Given the description of an element on the screen output the (x, y) to click on. 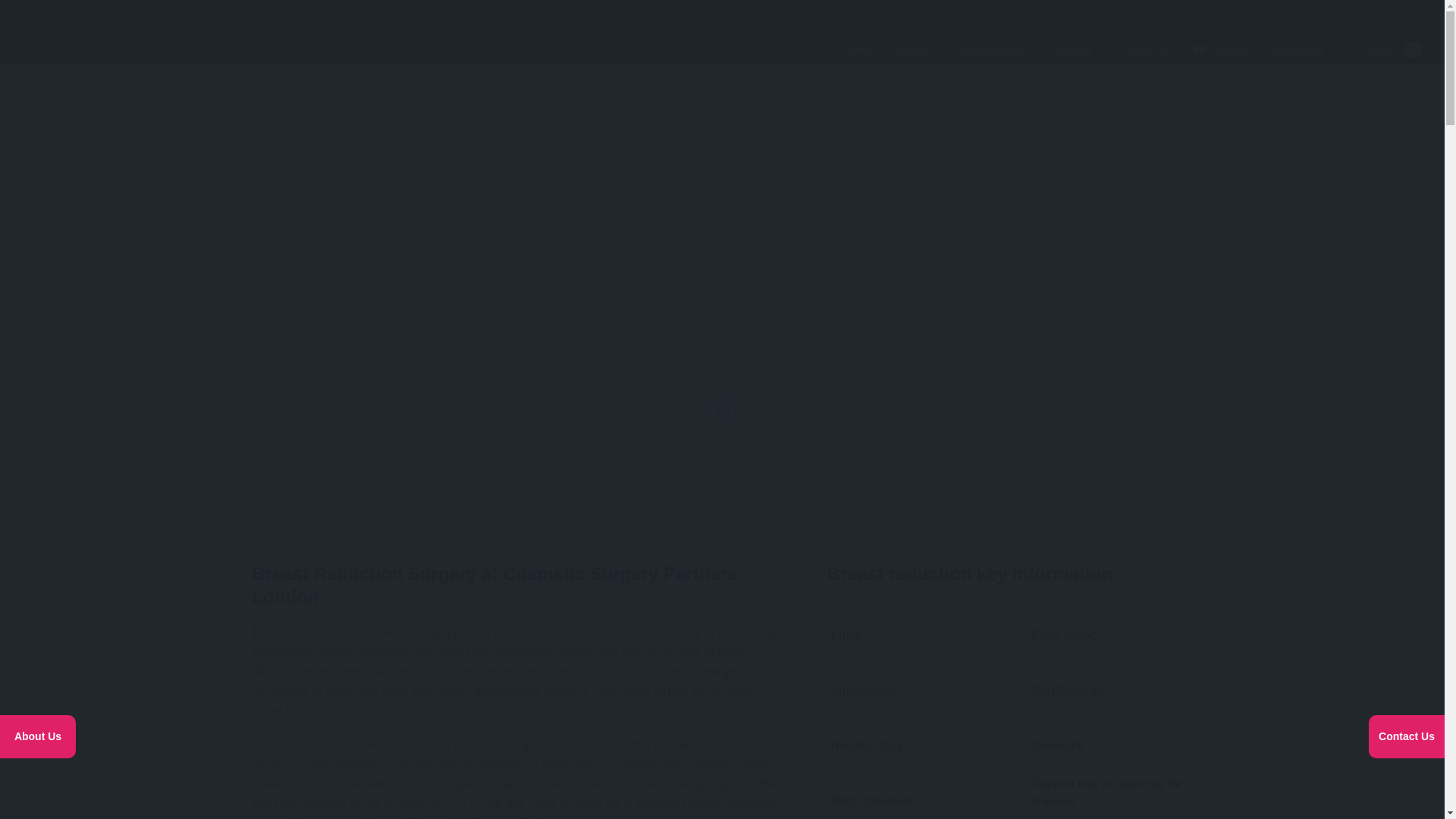
Non-Surgical (994, 50)
Surgery (911, 50)
Home (852, 50)
